Given the description of an element on the screen output the (x, y) to click on. 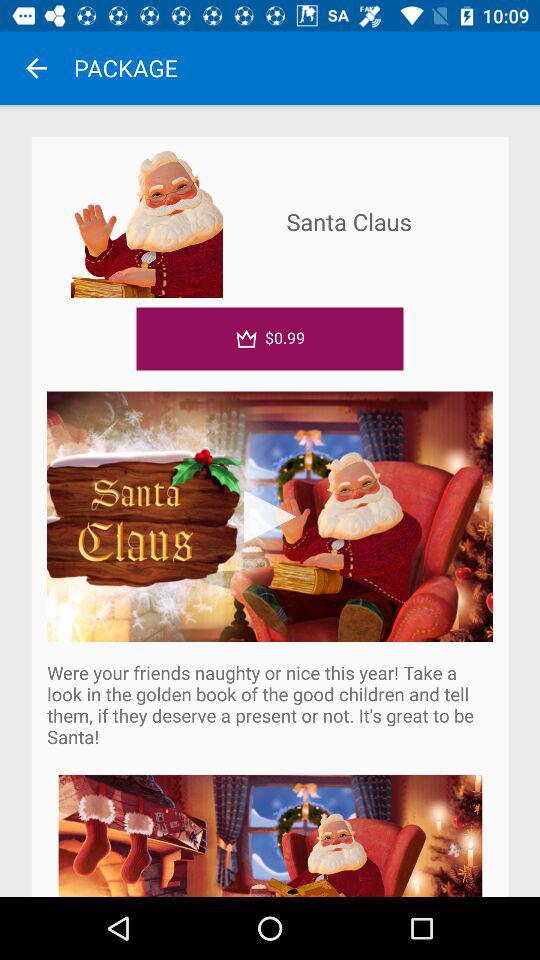
open the were your friends icon (269, 704)
